Given the description of an element on the screen output the (x, y) to click on. 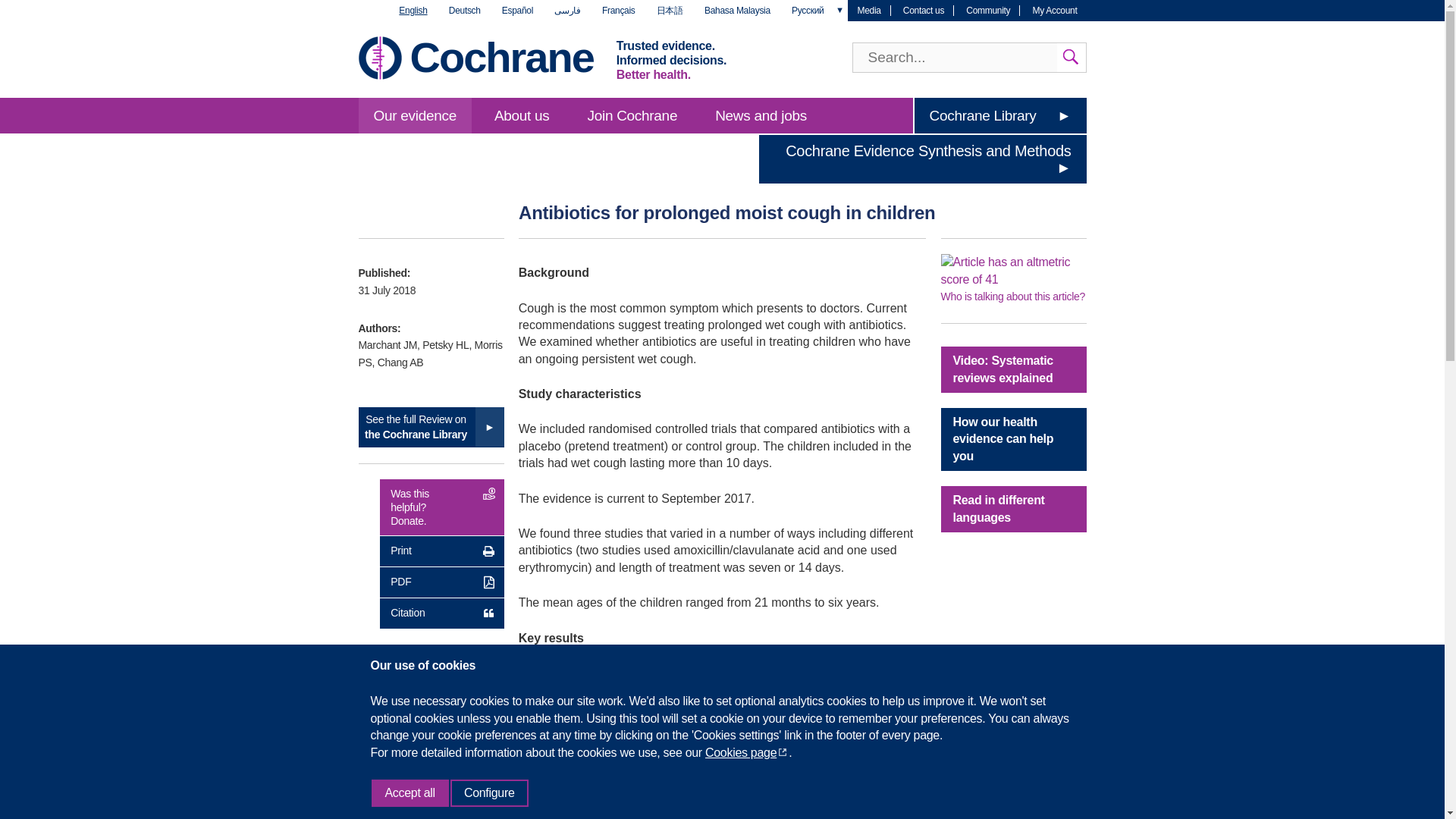
Cochrane (500, 57)
Deutsch (464, 10)
Community (988, 9)
Home (500, 57)
How our health evidence can help you (1013, 438)
About us (521, 115)
Our evidence (414, 115)
Contact us (923, 9)
Who is talking about this article? (1012, 296)
Search (1071, 57)
